Given the description of an element on the screen output the (x, y) to click on. 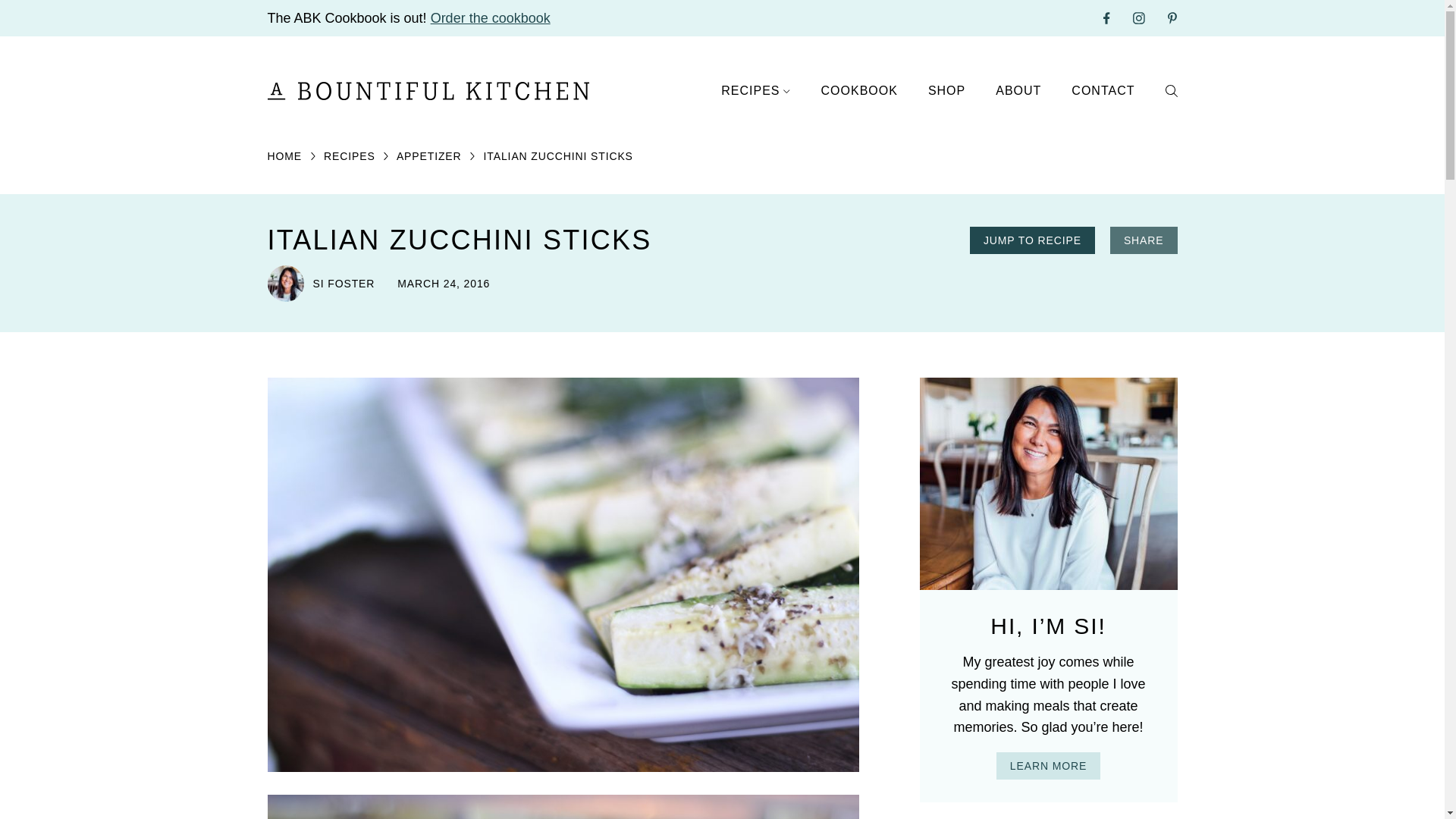
Pinterest (1172, 17)
Pinterest (1172, 18)
Facebook (1107, 17)
Order the cookbook (490, 17)
Instagram (1139, 17)
Instagram (1139, 18)
Italian Zucchini Sticks (562, 806)
Facebook (1107, 18)
RECIPES (755, 90)
